Given the description of an element on the screen output the (x, y) to click on. 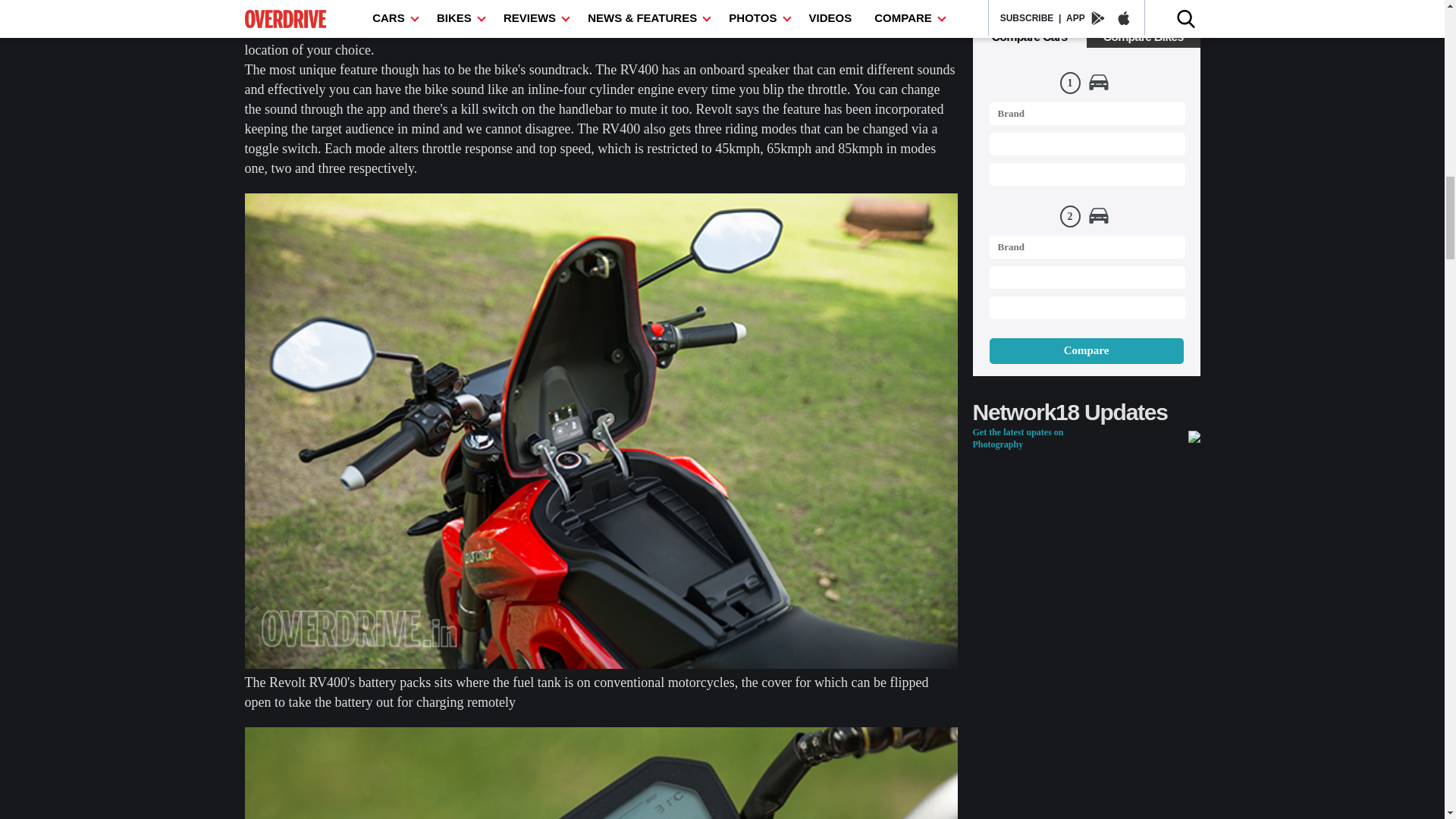
Revolt RV400 electric motorcycle - first ride review (600, 773)
